Given the description of an element on the screen output the (x, y) to click on. 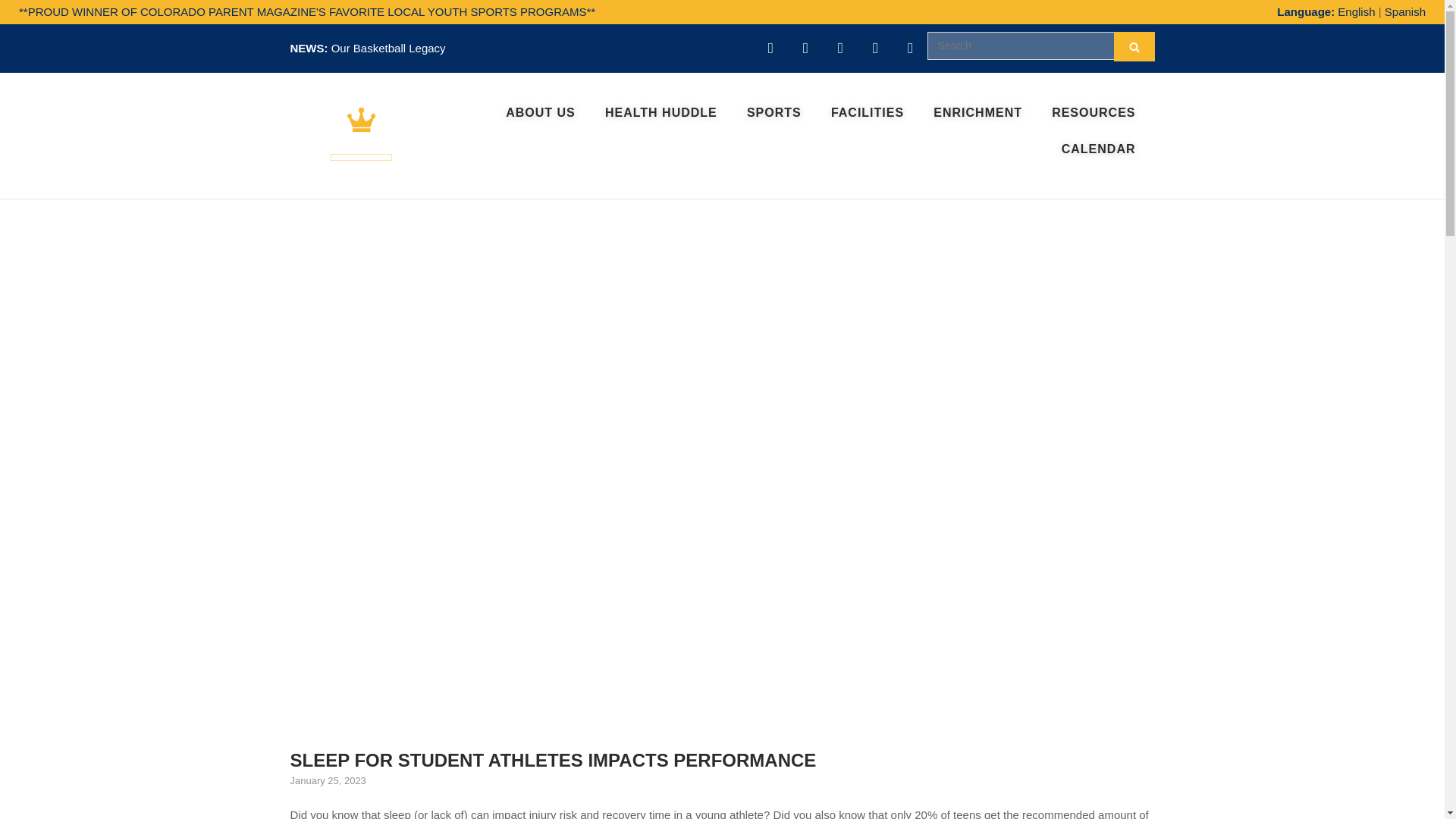
HEALTH HUDDLE (660, 112)
TikTok (910, 48)
ABOUT US (540, 112)
Facebook (840, 48)
Instagram (805, 48)
Our Basketball Legacy (388, 47)
FACILITIES (867, 112)
Spanish (1404, 11)
ENRICHMENT (977, 112)
YouTube (770, 48)
